Given the description of an element on the screen output the (x, y) to click on. 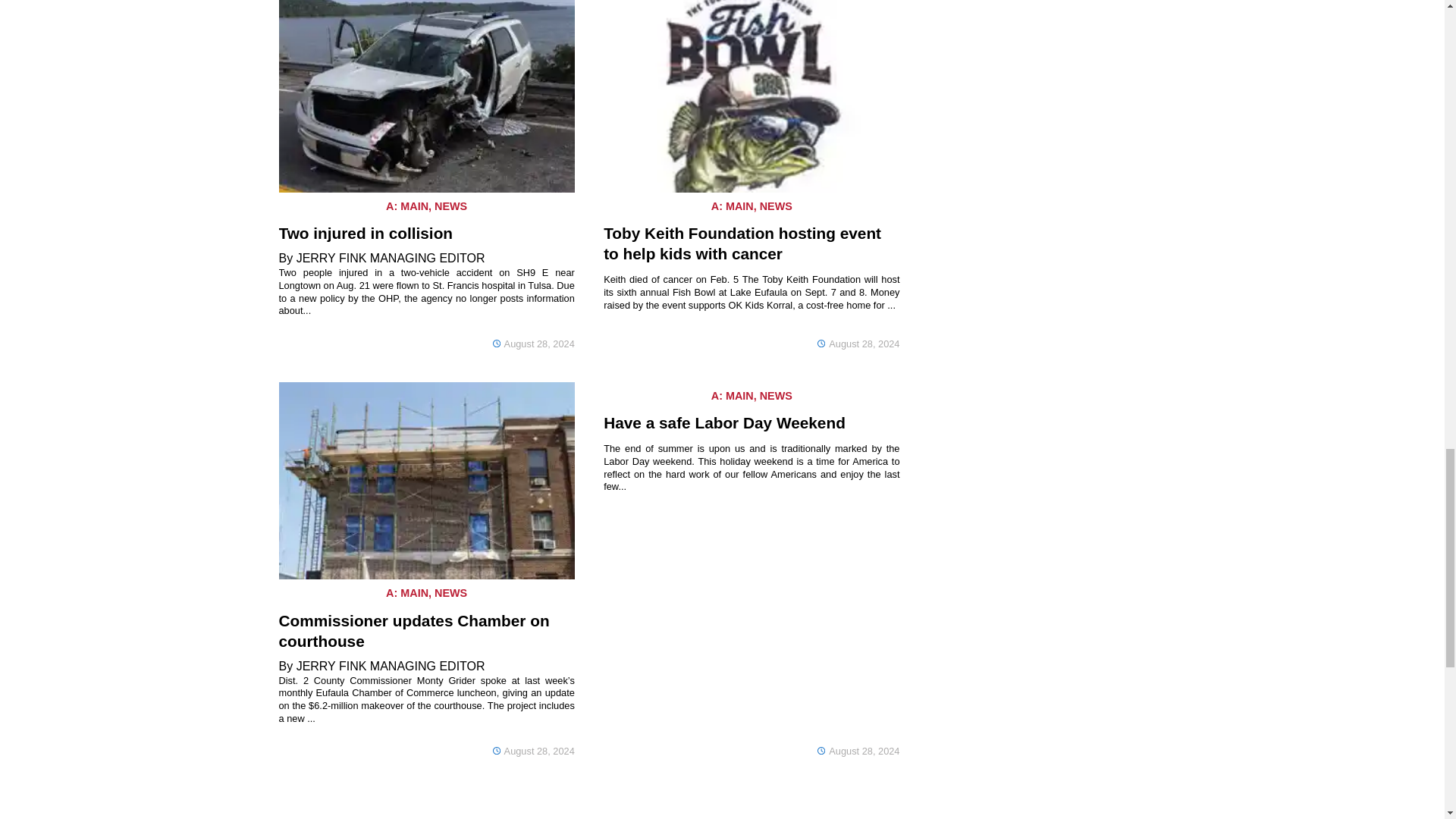
Two injured in collision (365, 232)
Toby Keith Foundation hosting event to help kids with cancer (742, 243)
Commissioner updates Chamber on courthouse (414, 630)
